Given the description of an element on the screen output the (x, y) to click on. 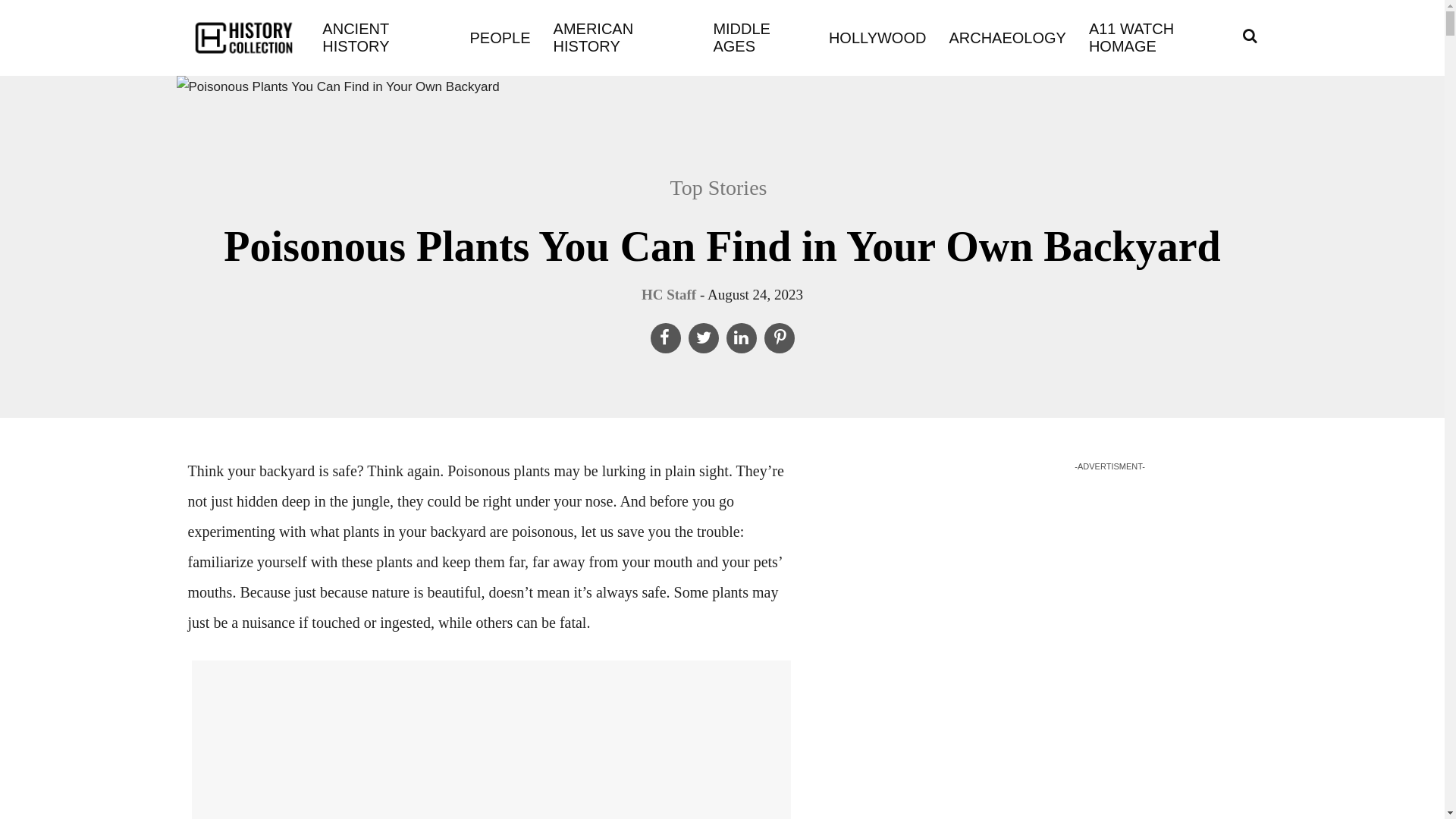
AMERICAN HISTORY (622, 37)
HOLLYWOOD (877, 36)
ANCIENT HISTORY (384, 37)
A11 WATCH HOMAGE (1160, 37)
HC Staff (668, 294)
MIDDLE AGES (758, 37)
Top Stories (726, 187)
ARCHAEOLOGY (1006, 36)
PEOPLE (500, 36)
